Given the description of an element on the screen output the (x, y) to click on. 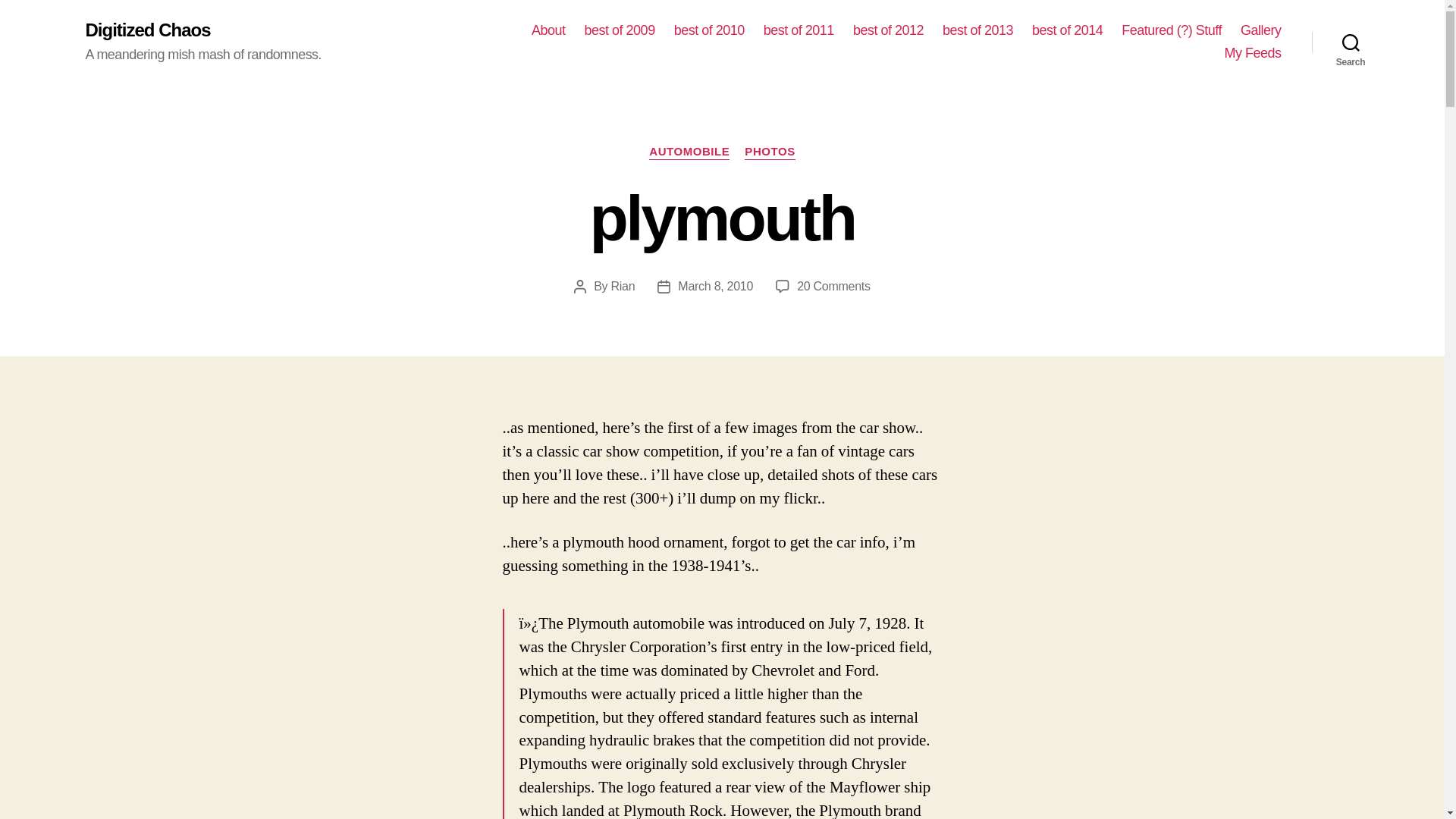
best of 2010 (833, 286)
Search (709, 30)
About (1350, 41)
best of 2014 (548, 30)
best of 2013 (1067, 30)
Gallery (977, 30)
AUTOMOBILE (1260, 30)
PHOTOS (689, 151)
best of 2011 (769, 151)
